Given the description of an element on the screen output the (x, y) to click on. 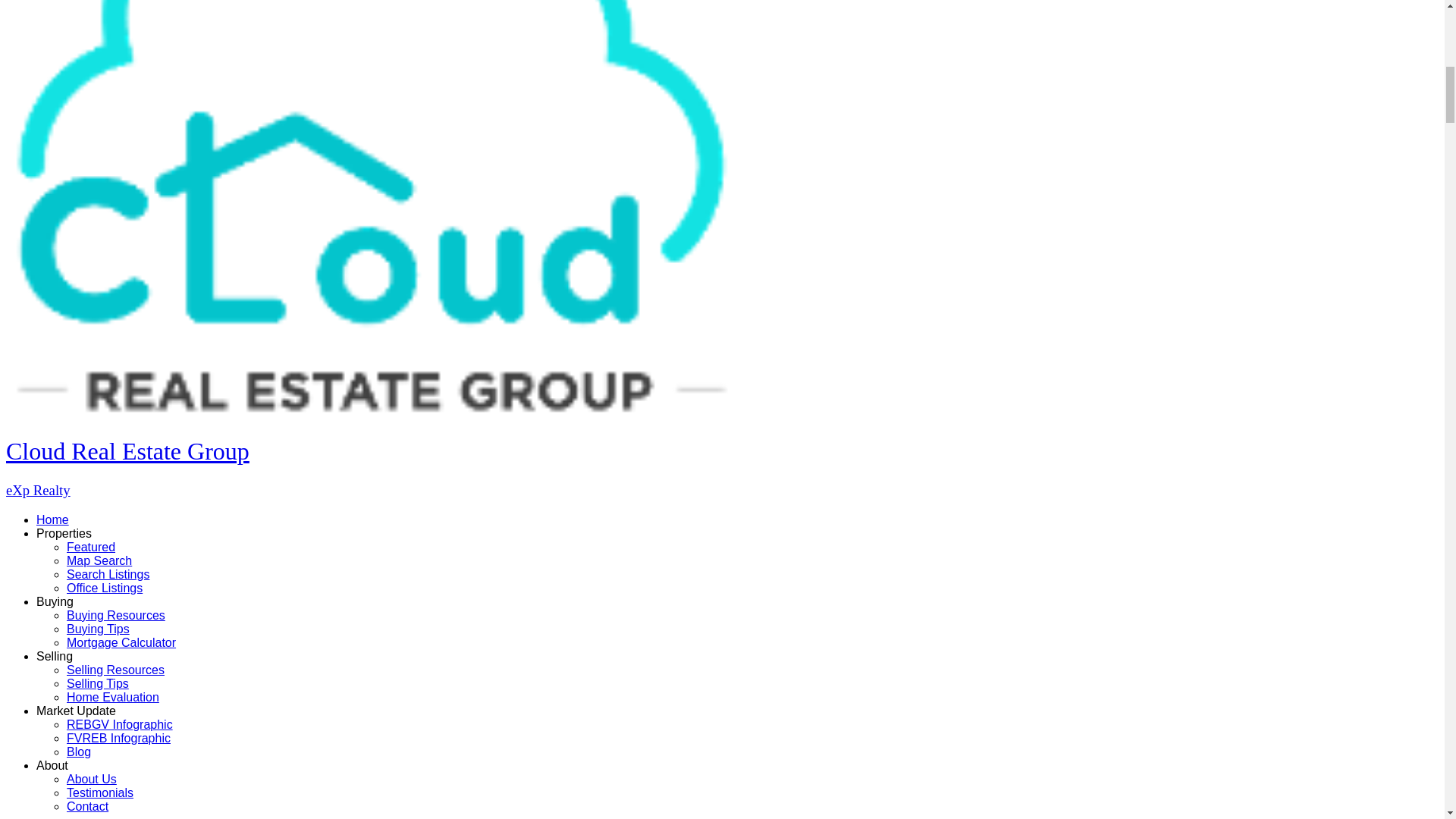
Mortgage Calculator (121, 642)
Featured (90, 546)
Testimonials (99, 792)
Home (52, 519)
Map Search (99, 560)
Selling Resources (115, 669)
Search Listings (107, 574)
Buying Tips (97, 628)
Buying Resources (115, 615)
About Us (91, 779)
FVREB Infographic (118, 738)
Home Evaluation (112, 697)
REBGV Infographic (119, 724)
Blog (78, 751)
Office Listings (104, 587)
